Given the description of an element on the screen output the (x, y) to click on. 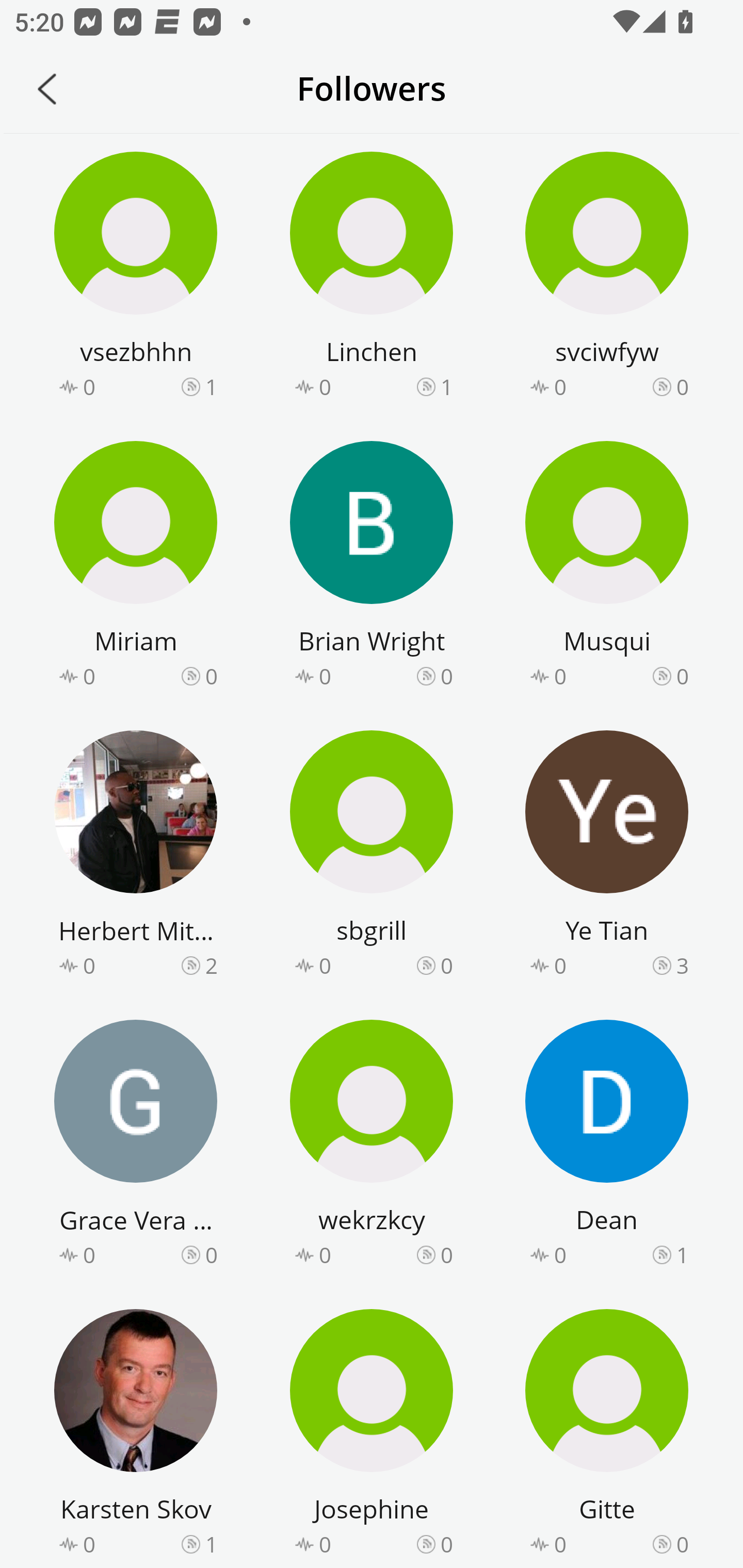
Back (46, 88)
vsezbhhn 0 1 (135, 278)
Linchen 0 1 (371, 278)
svciwfyw 0 0 (606, 278)
1 (211, 386)
1 (446, 386)
0 (682, 386)
Miriam 0 0 (135, 567)
Brian Wright 0 0 (371, 567)
Musqui 0 0 (606, 567)
0 (211, 676)
0 (446, 676)
0 (682, 676)
Herbert Mitchell 0 2 (135, 856)
sbgrill 0 0 (371, 856)
Ye Tian 0 3 (606, 856)
2 (211, 965)
0 (446, 965)
3 (682, 965)
Grace Vera Amankwah 0 0 (135, 1146)
wekrzkcy 0 0 (371, 1146)
Dean 0 1 (606, 1146)
0 (211, 1255)
0 (446, 1255)
1 (682, 1255)
Karsten Skov 0 1 (135, 1435)
Josephine 0 0 (371, 1435)
Gitte 0 0 (606, 1435)
1 (211, 1543)
0 (446, 1543)
0 (682, 1543)
